Given the description of an element on the screen output the (x, y) to click on. 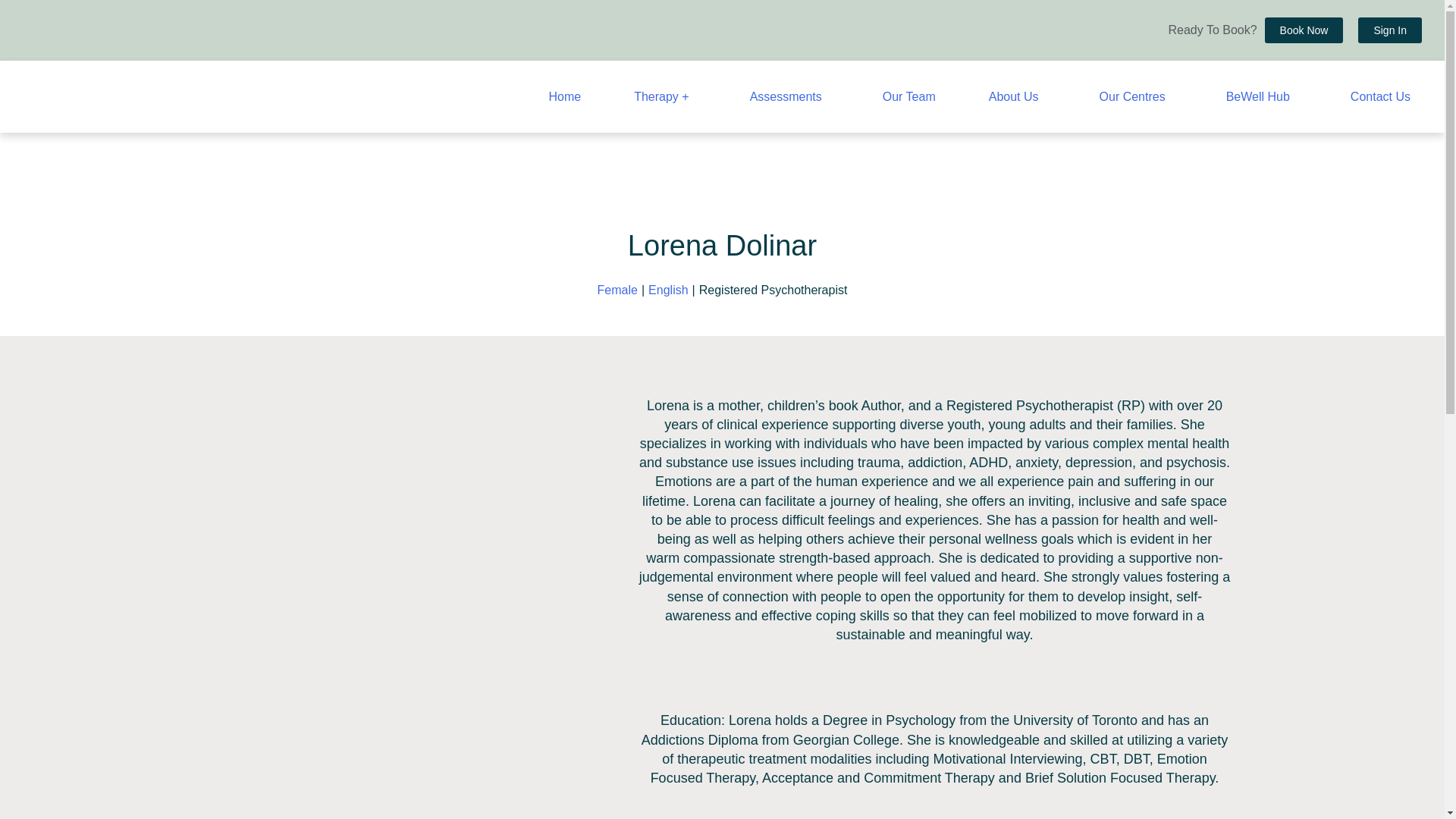
Home (564, 95)
Assessments (789, 95)
Sign In (1390, 30)
About Us (1017, 95)
Book Now (1304, 30)
Our Team (909, 95)
Our Centres (1136, 95)
BeWell Hub (1261, 95)
